Given the description of an element on the screen output the (x, y) to click on. 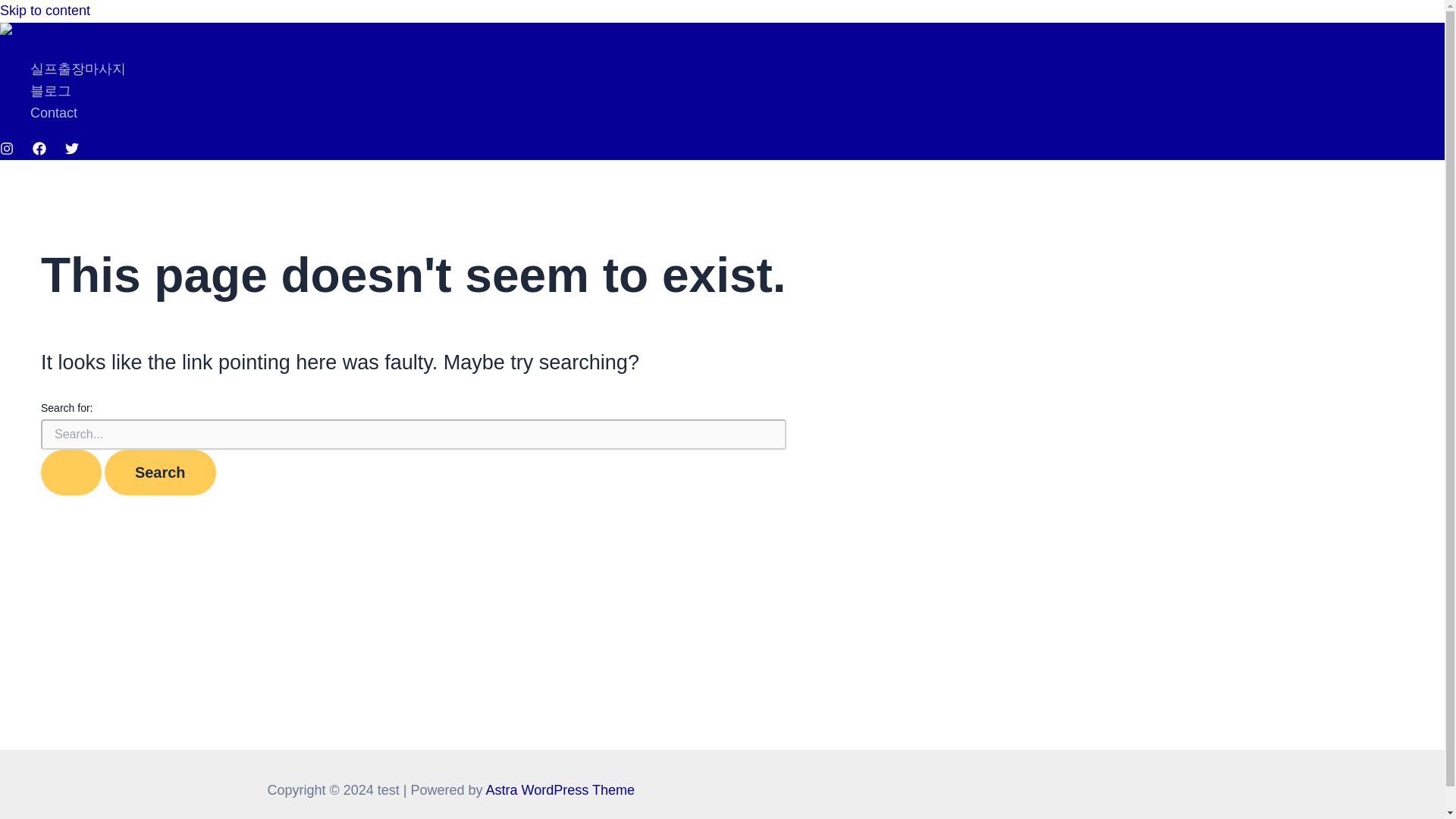
Search (159, 472)
Skip to content (45, 10)
Astra WordPress Theme (560, 789)
Skip to content (45, 10)
Search (159, 472)
Contact (77, 113)
Search (159, 472)
